Given the description of an element on the screen output the (x, y) to click on. 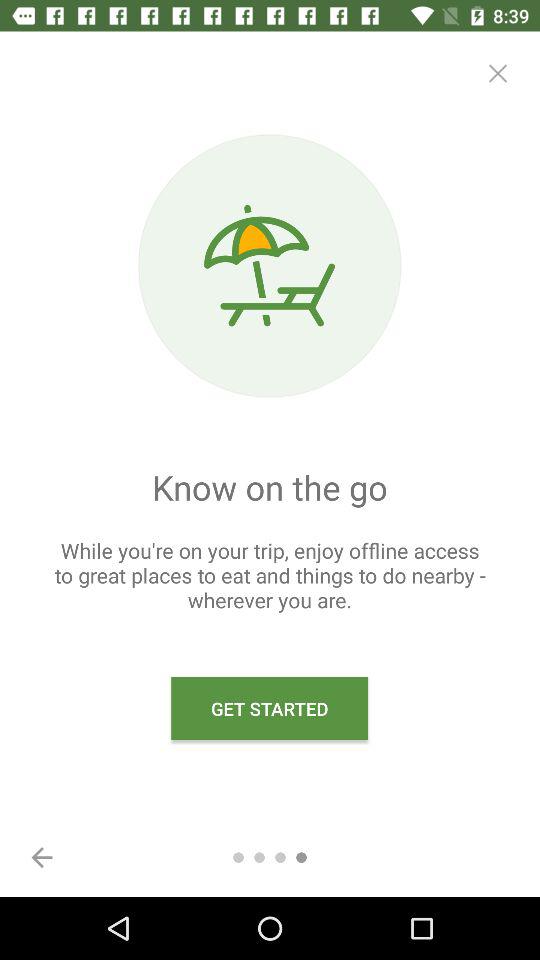
tap the icon at the bottom left corner (42, 857)
